Given the description of an element on the screen output the (x, y) to click on. 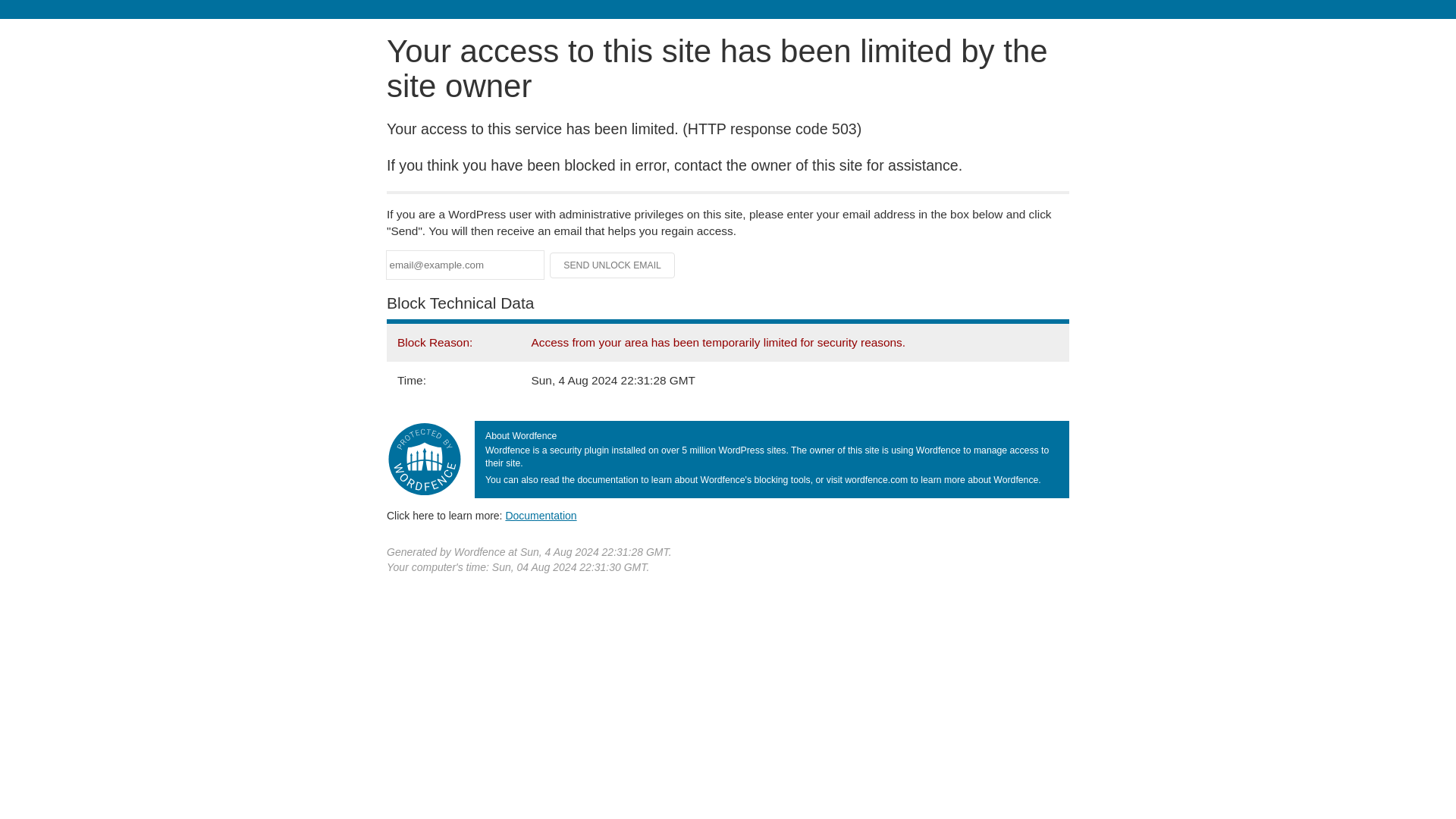
Send Unlock Email (612, 265)
Documentation (540, 515)
Send Unlock Email (612, 265)
